Given the description of an element on the screen output the (x, y) to click on. 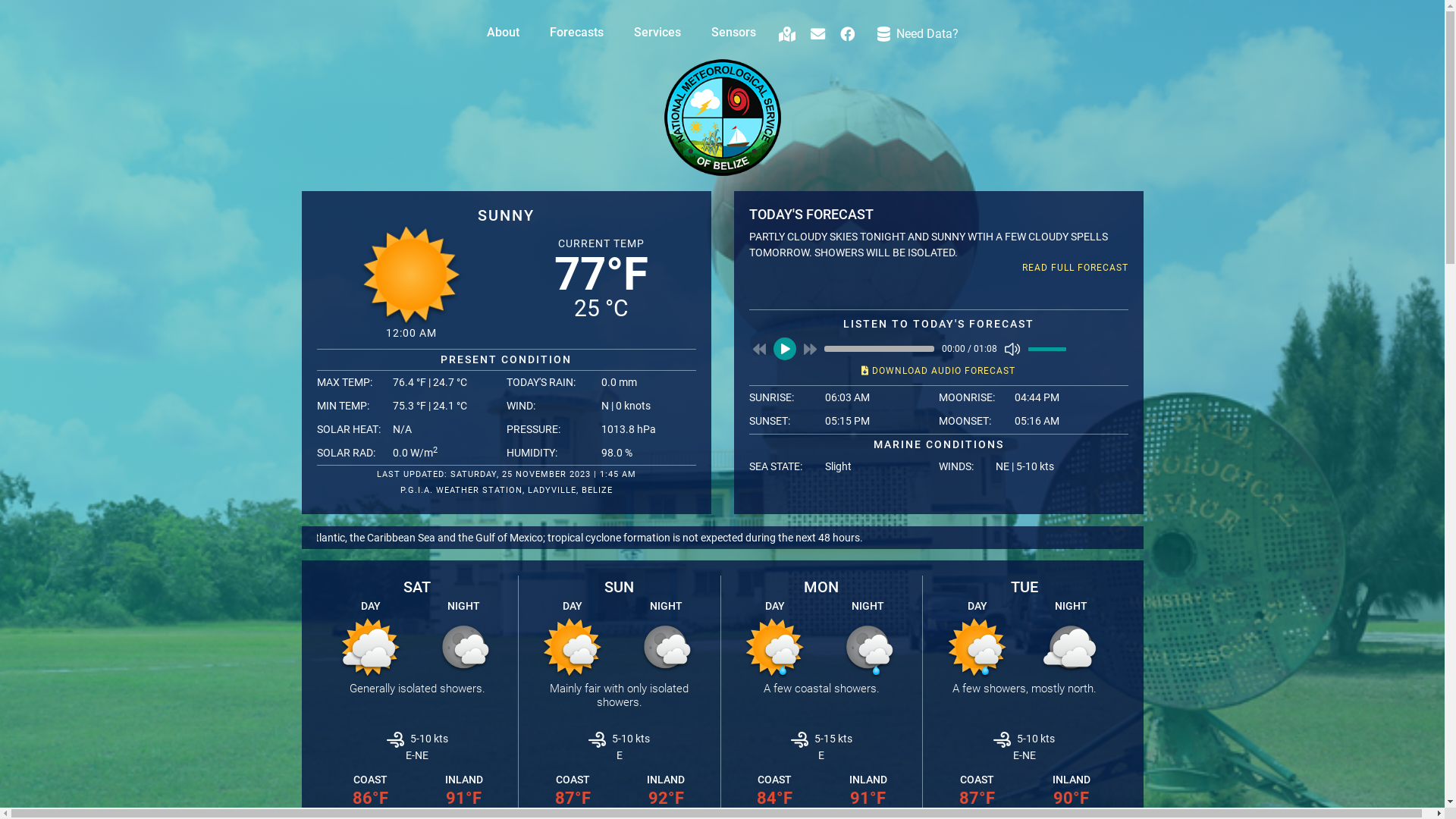
Contact Us Element type: hover (816, 30)
Observation Map Element type: hover (786, 30)
NMS on Facebook Element type: hover (847, 30)
READ FULL FORECAST Element type: text (938, 267)
Need Data? Element type: text (916, 30)
DOWNLOAD AUDIO FORECAST Element type: text (938, 370)
